Given the description of an element on the screen output the (x, y) to click on. 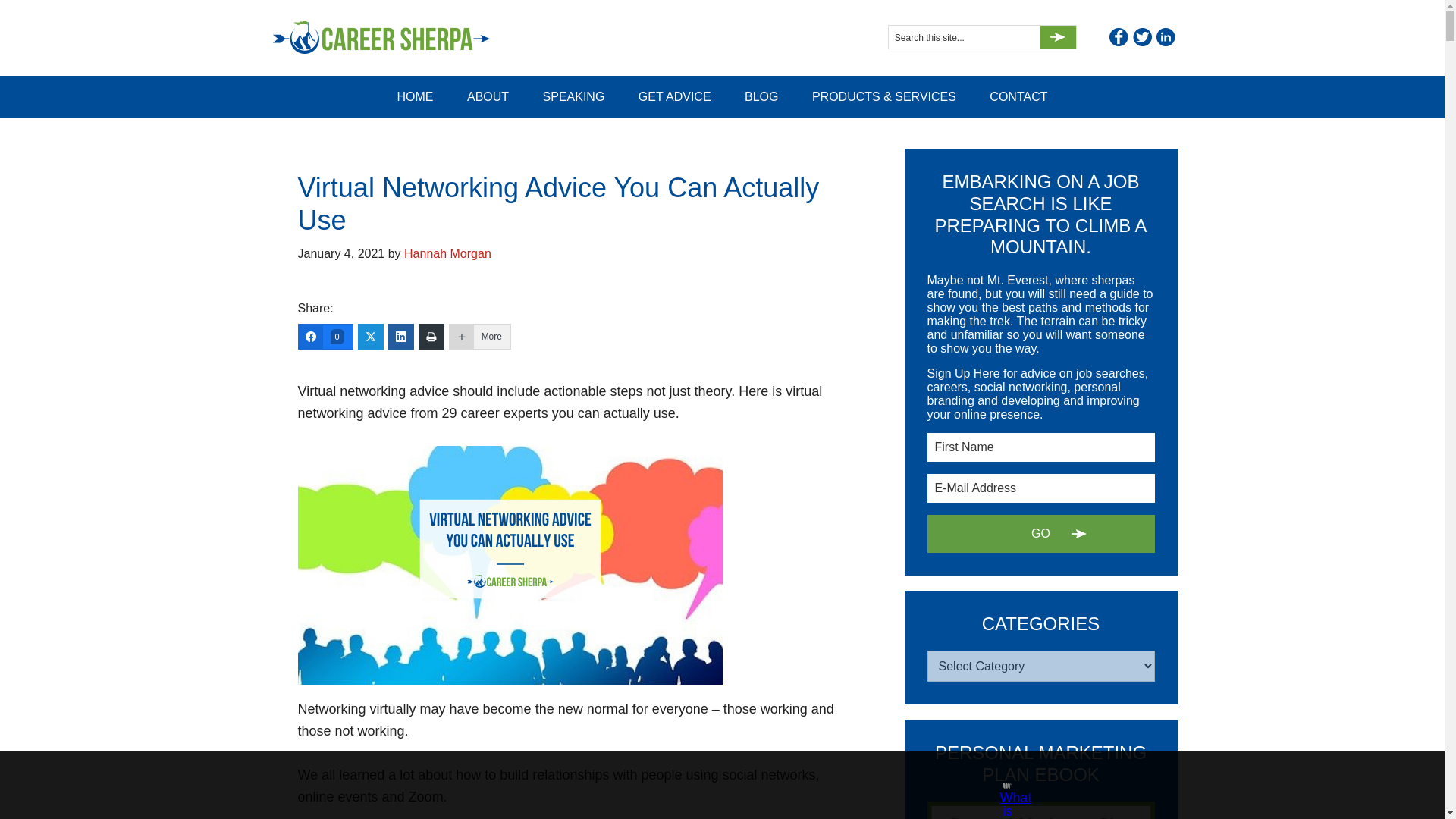
Career Sherpa (403, 37)
CONTACT (1018, 96)
Go (1058, 36)
SPEAKING (573, 96)
Hannah Morgan (448, 253)
0 (324, 336)
GET ADVICE (674, 96)
Go (1058, 36)
Facebook (1117, 36)
Go (1058, 36)
BLOG (761, 96)
ABOUT (487, 96)
HOME (414, 96)
Twitter (1141, 36)
